Given the description of an element on the screen output the (x, y) to click on. 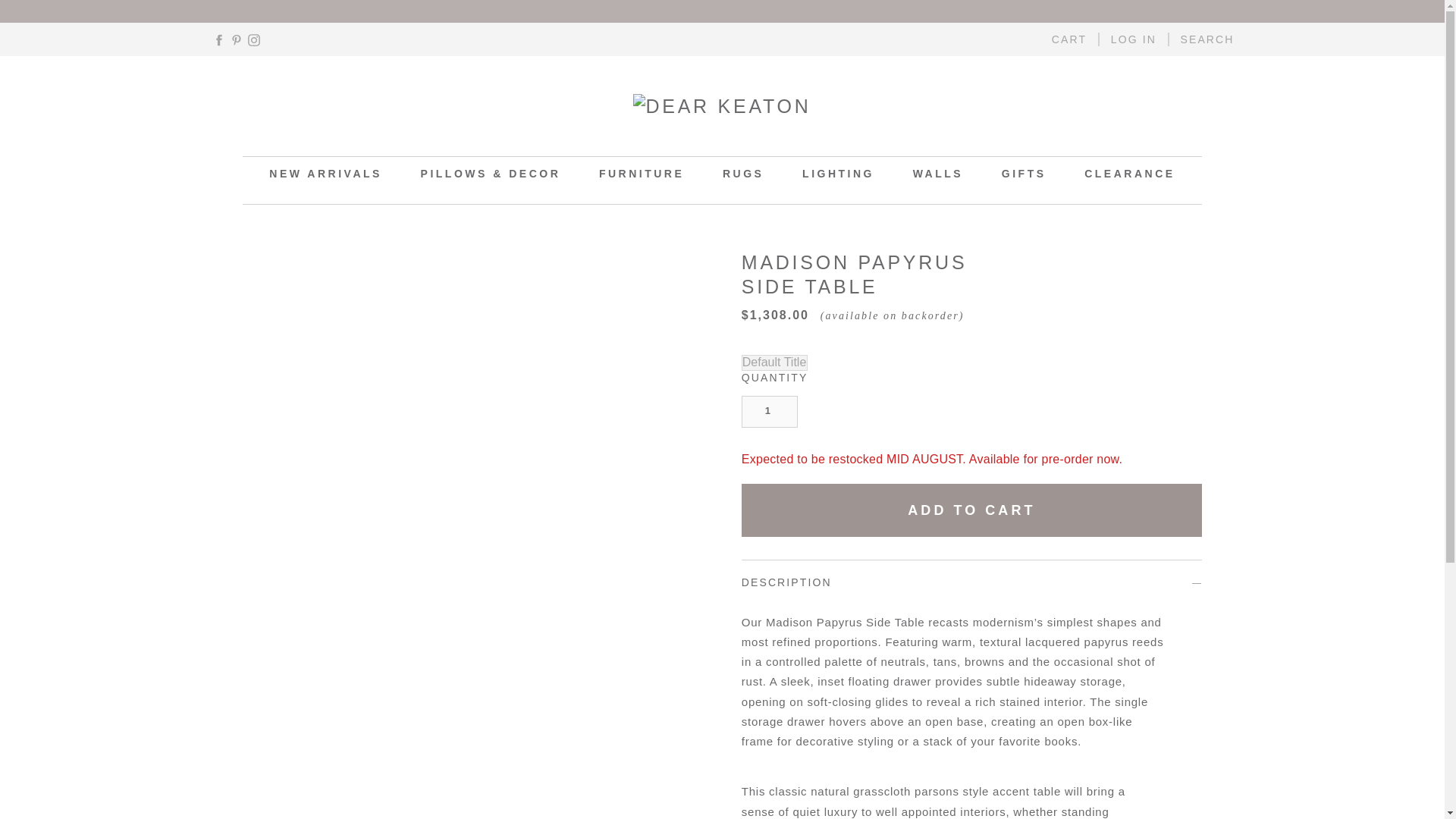
Dear Keaton on Instagram (253, 38)
Dear Keaton on Pinterest (236, 38)
Dear Keaton on Facebook (218, 38)
1 (769, 411)
